Given the description of an element on the screen output the (x, y) to click on. 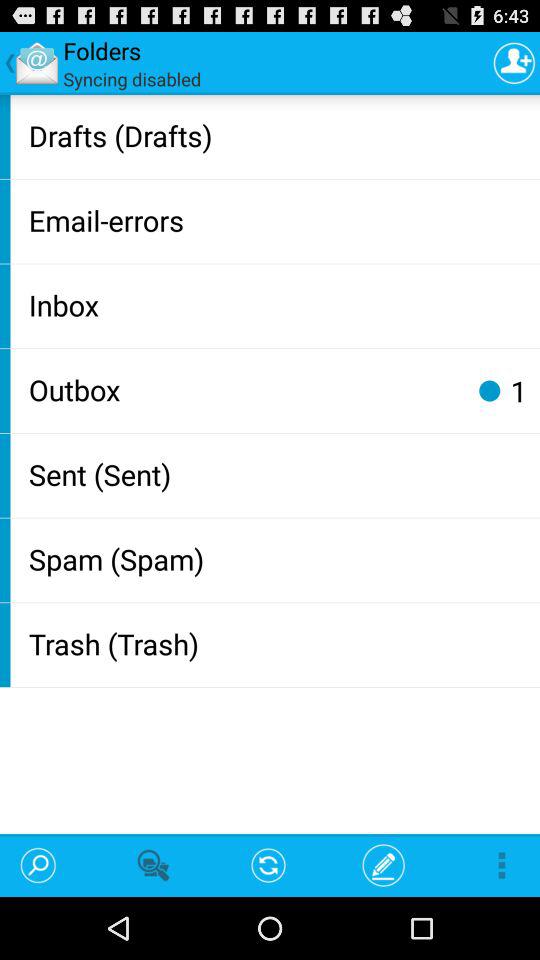
add a contact (514, 62)
